Given the description of an element on the screen output the (x, y) to click on. 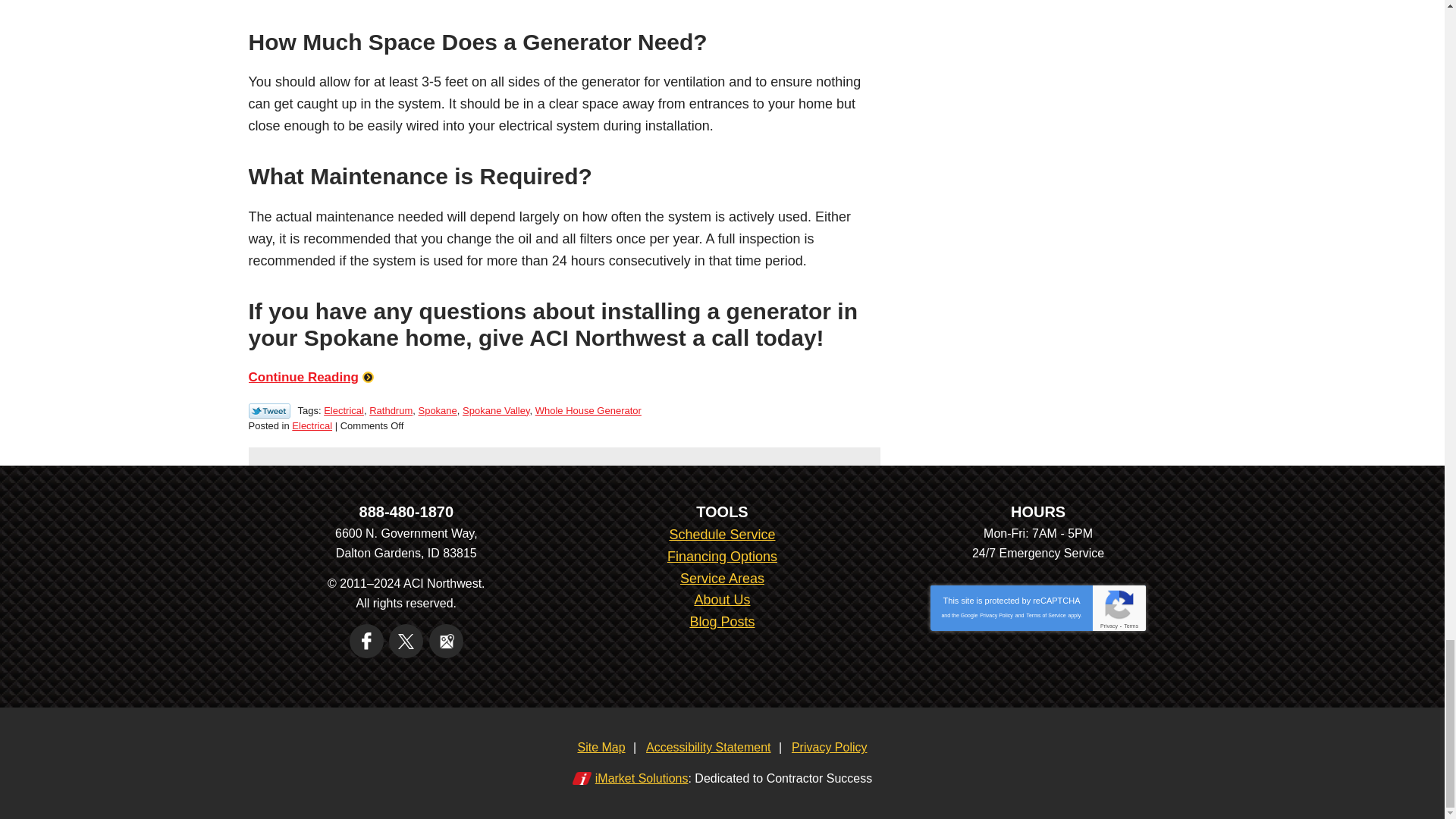
Permanent Link to Generator Tip: Whole House Generator FAQs (311, 377)
